Given the description of an element on the screen output the (x, y) to click on. 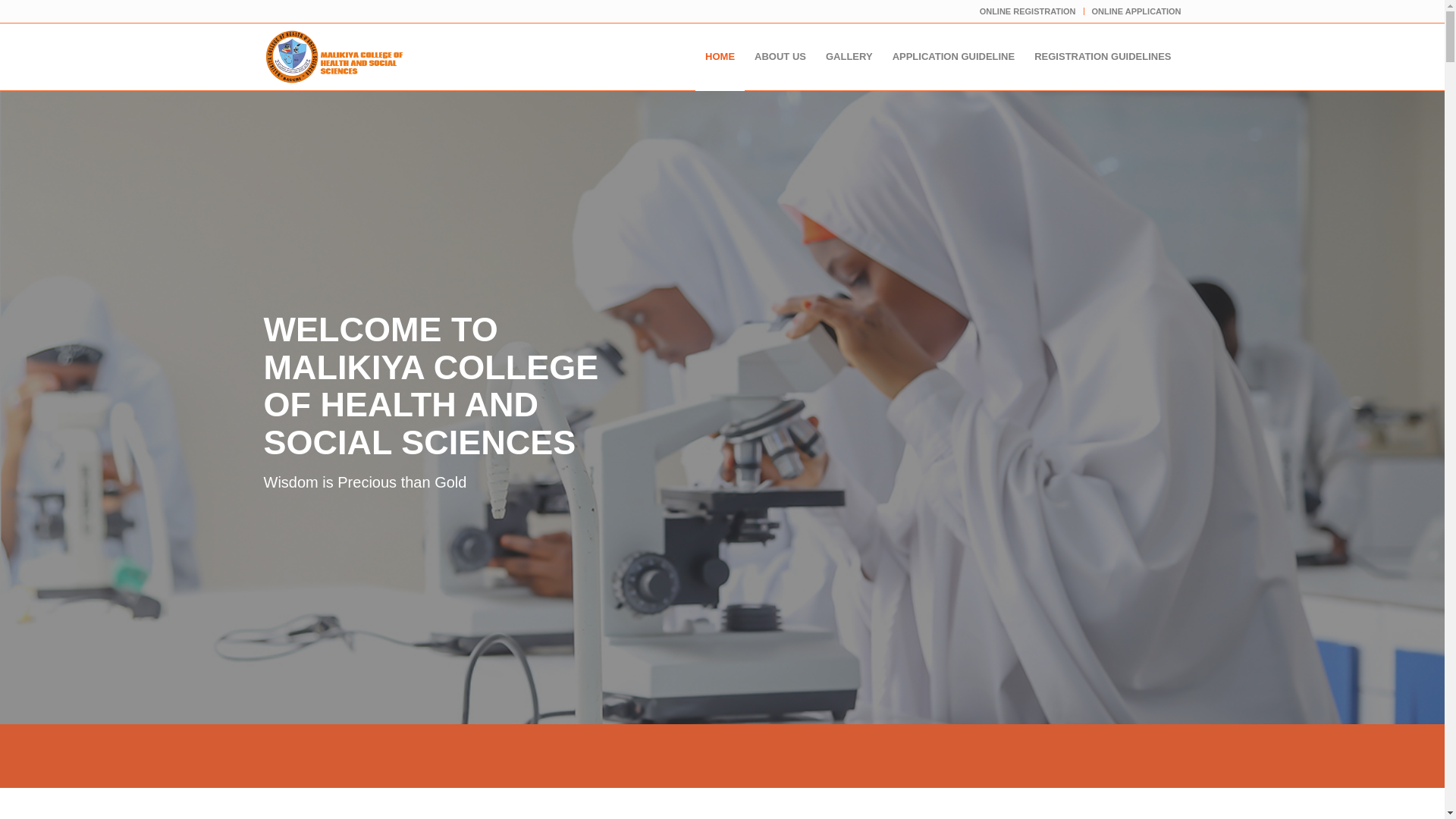
GALLERY (848, 56)
APPLICATION GUIDELINE (953, 56)
ONLINE REGISTRATION (1027, 11)
ABOUT US (779, 56)
REGISTRATION GUIDELINES (1102, 56)
ONLINE APPLICATION (1136, 11)
